Given the description of an element on the screen output the (x, y) to click on. 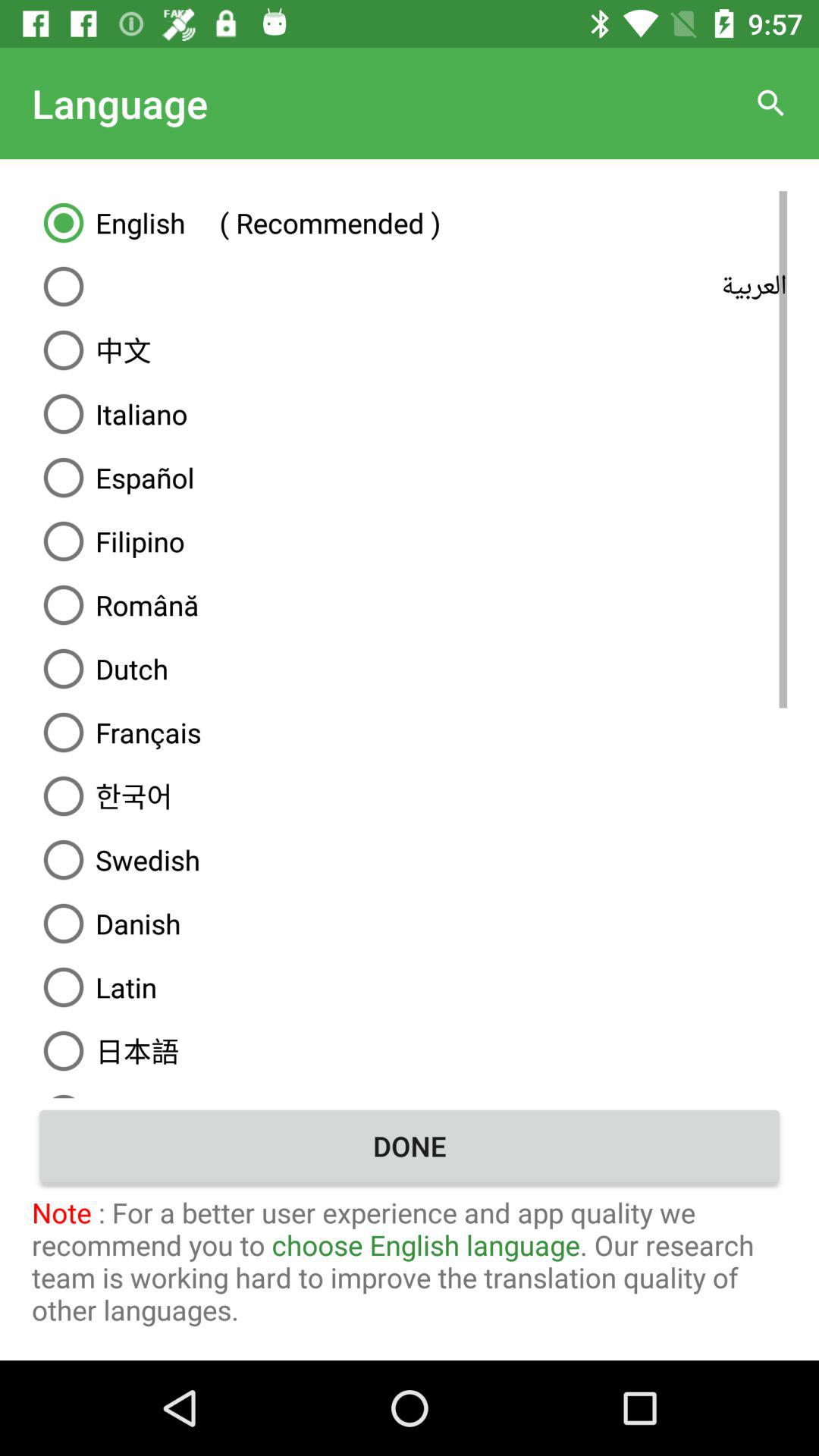
tap the item at the top right corner (771, 103)
